Given the description of an element on the screen output the (x, y) to click on. 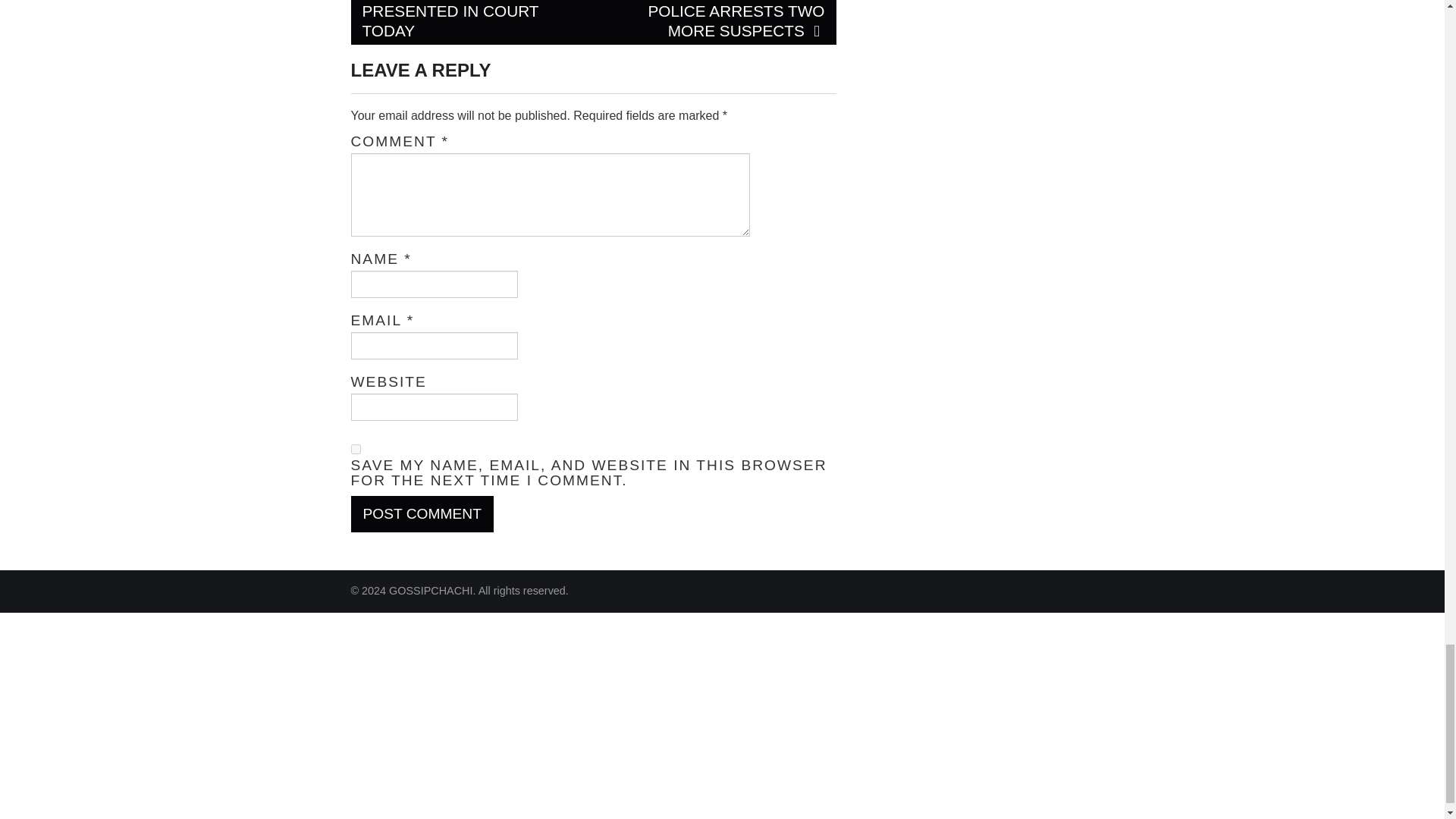
yes (354, 449)
Post Comment (421, 514)
Post Comment (421, 514)
